Given the description of an element on the screen output the (x, y) to click on. 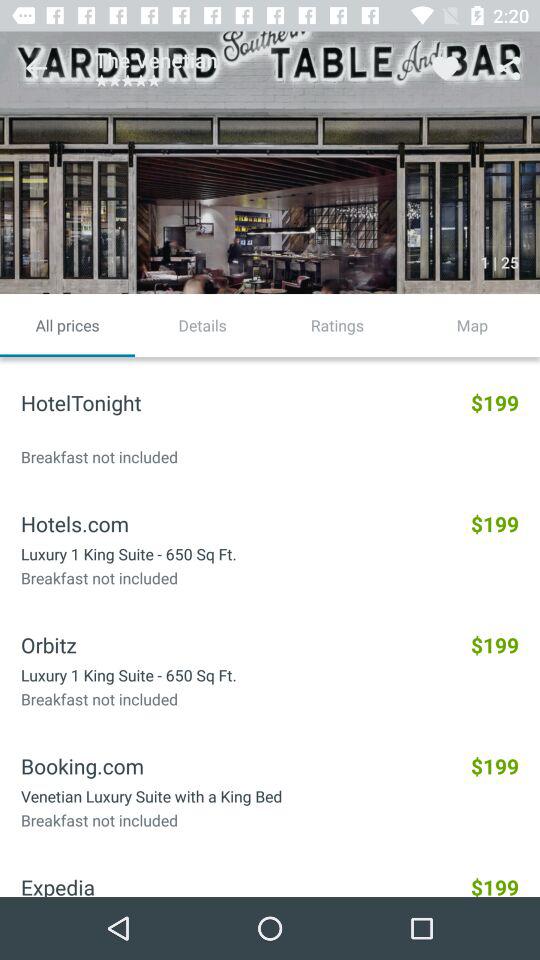
click the item next to the ratings (202, 325)
